Given the description of an element on the screen output the (x, y) to click on. 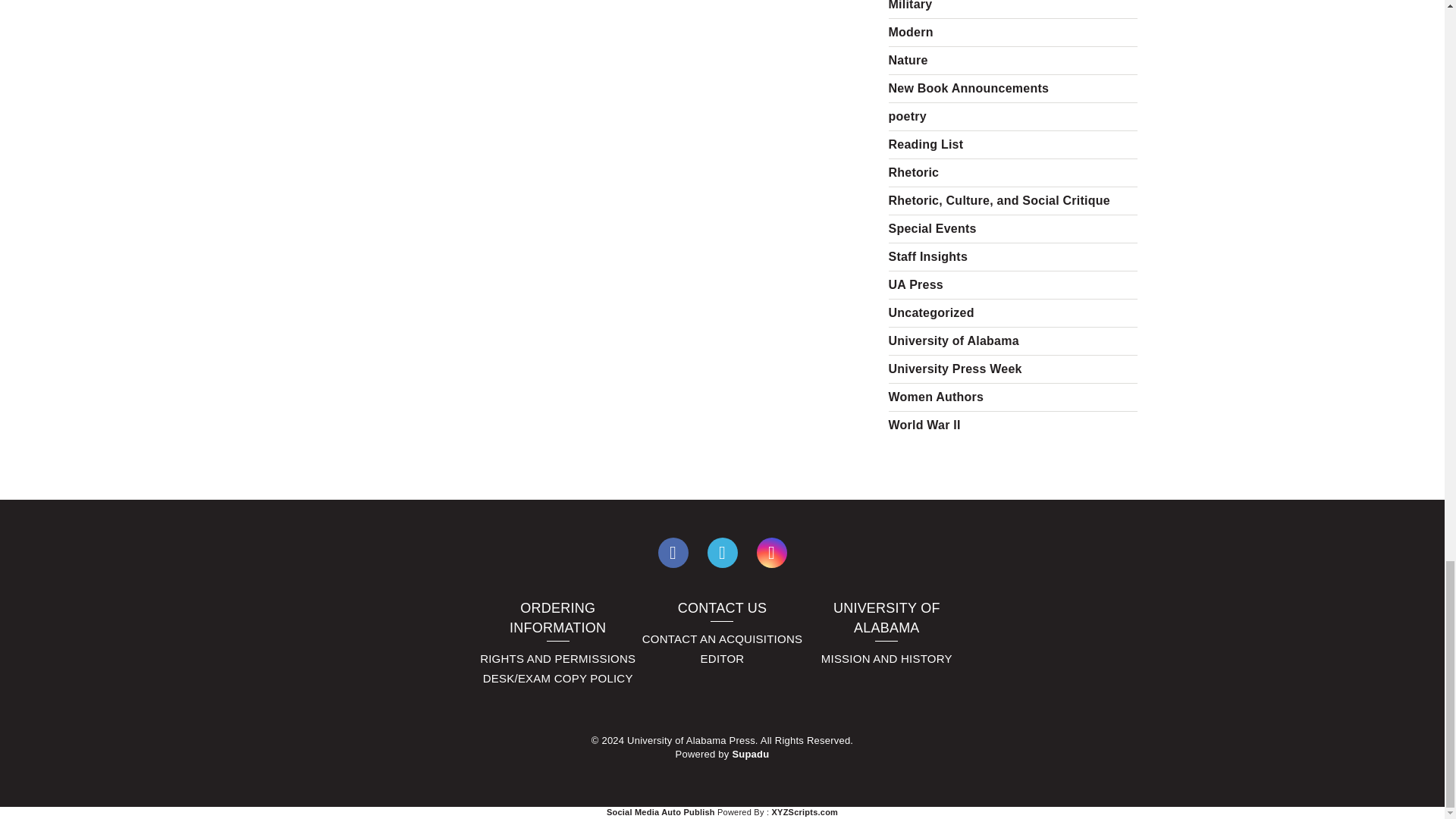
Social Media Auto Publish (660, 811)
Follow us on Facebook (672, 552)
Follow us on Instagram (771, 552)
